Given the description of an element on the screen output the (x, y) to click on. 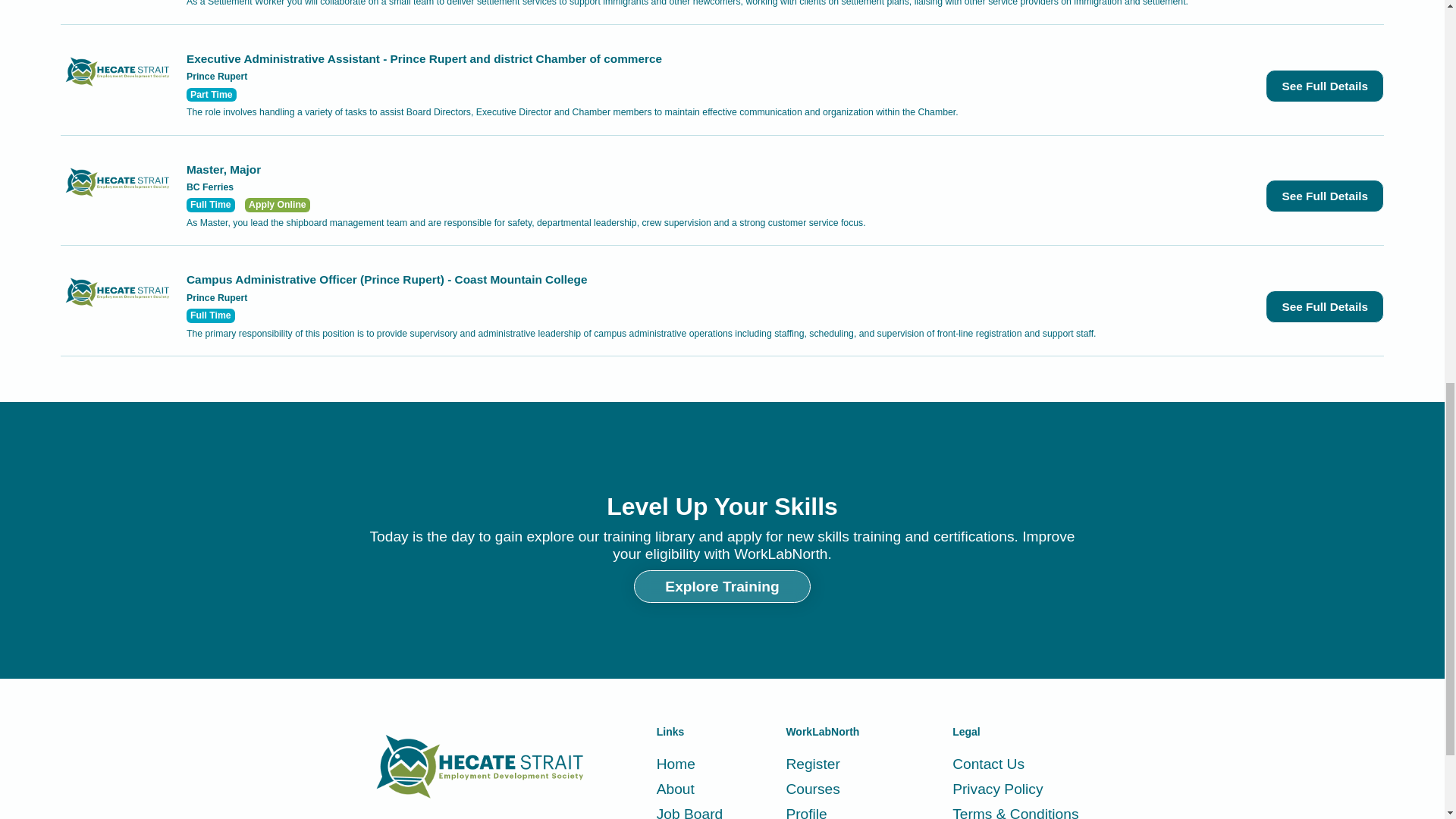
Home (689, 764)
See Full Details (1324, 306)
See Full Details (1324, 195)
See Full Details (1324, 85)
About (689, 788)
Explore Training (721, 586)
